Given the description of an element on the screen output the (x, y) to click on. 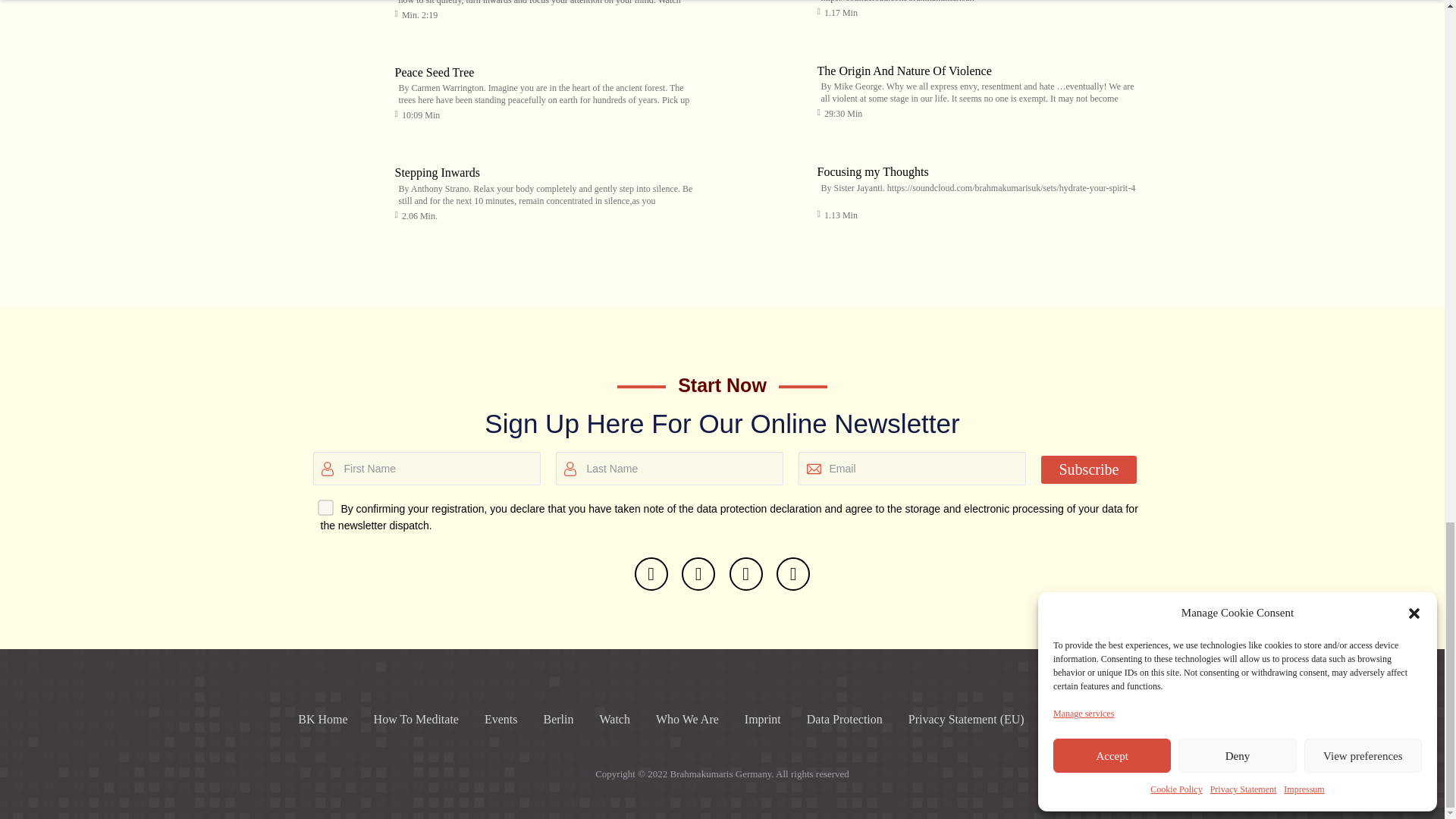
Stepping Inwards (436, 172)
Raja Yoga Meditation (345, 13)
Relaxation - Relaxing - Anthony Strano (767, 12)
Peace Seed Tree (434, 72)
The Origin And Nature Of Violence (903, 70)
Peace Seed Tree (345, 89)
Stepping Inwards (345, 189)
Focusing my Thoughts (767, 188)
The Origin And Nature Of Violence (767, 87)
Focusing my Thoughts (872, 171)
sub (322, 504)
